Given the description of an element on the screen output the (x, y) to click on. 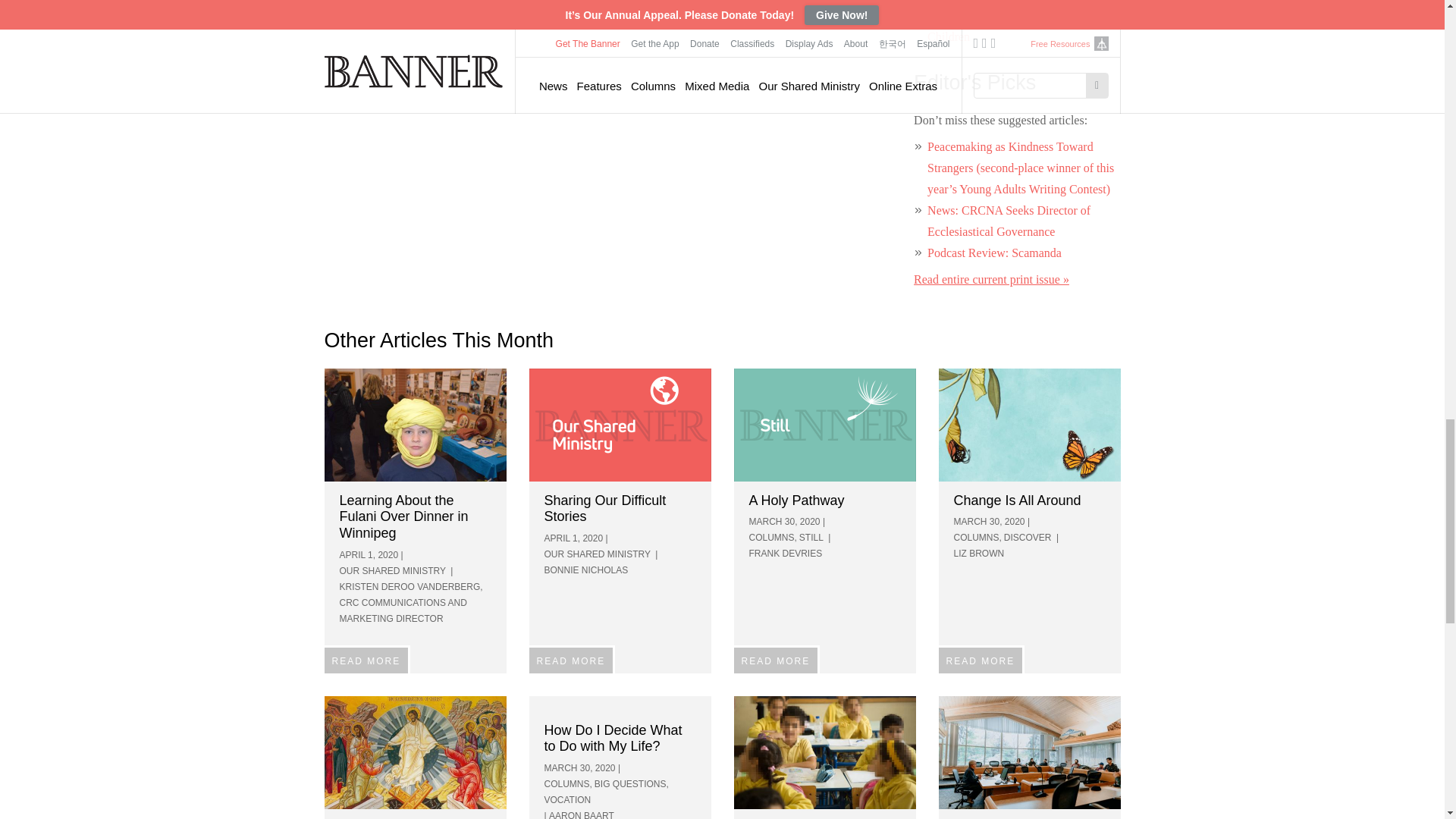
International Scholars at Work at Calvin Seminary (1030, 752)
Saturday of the Harrowed Hearts (415, 752)
Learning About the Fulani Over Dinner in Winnipeg (415, 424)
News: CRCNA Seeks Director of Ecclesiastical Governance (1008, 220)
Podcast Review: Scamanda (994, 252)
Change Is All Around (1030, 424)
